Given the description of an element on the screen output the (x, y) to click on. 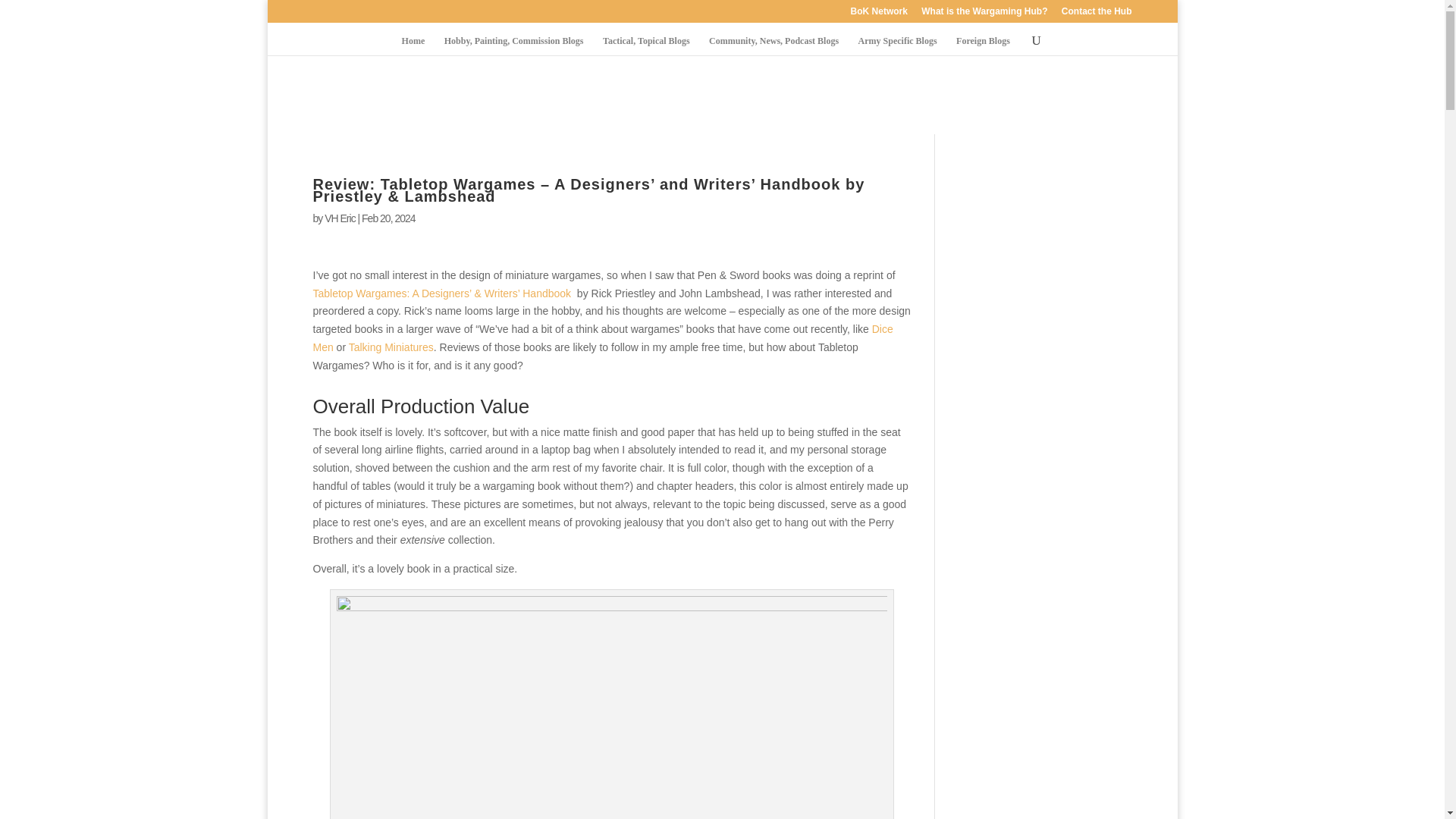
Foreign Blogs (983, 45)
Tactical, Topical Blogs (646, 45)
What is the Wargaming Hub? (983, 14)
Posts by VH Eric (339, 218)
Talking Miniatures (391, 346)
Army Specific Blogs (898, 45)
Community, News, Podcast Blogs (773, 45)
VH Eric (339, 218)
Dice Men (602, 337)
Contact the Hub (1096, 14)
Home (413, 45)
BoK Network (878, 14)
Hobby, Painting, Commission Blogs (513, 45)
